Given the description of an element on the screen output the (x, y) to click on. 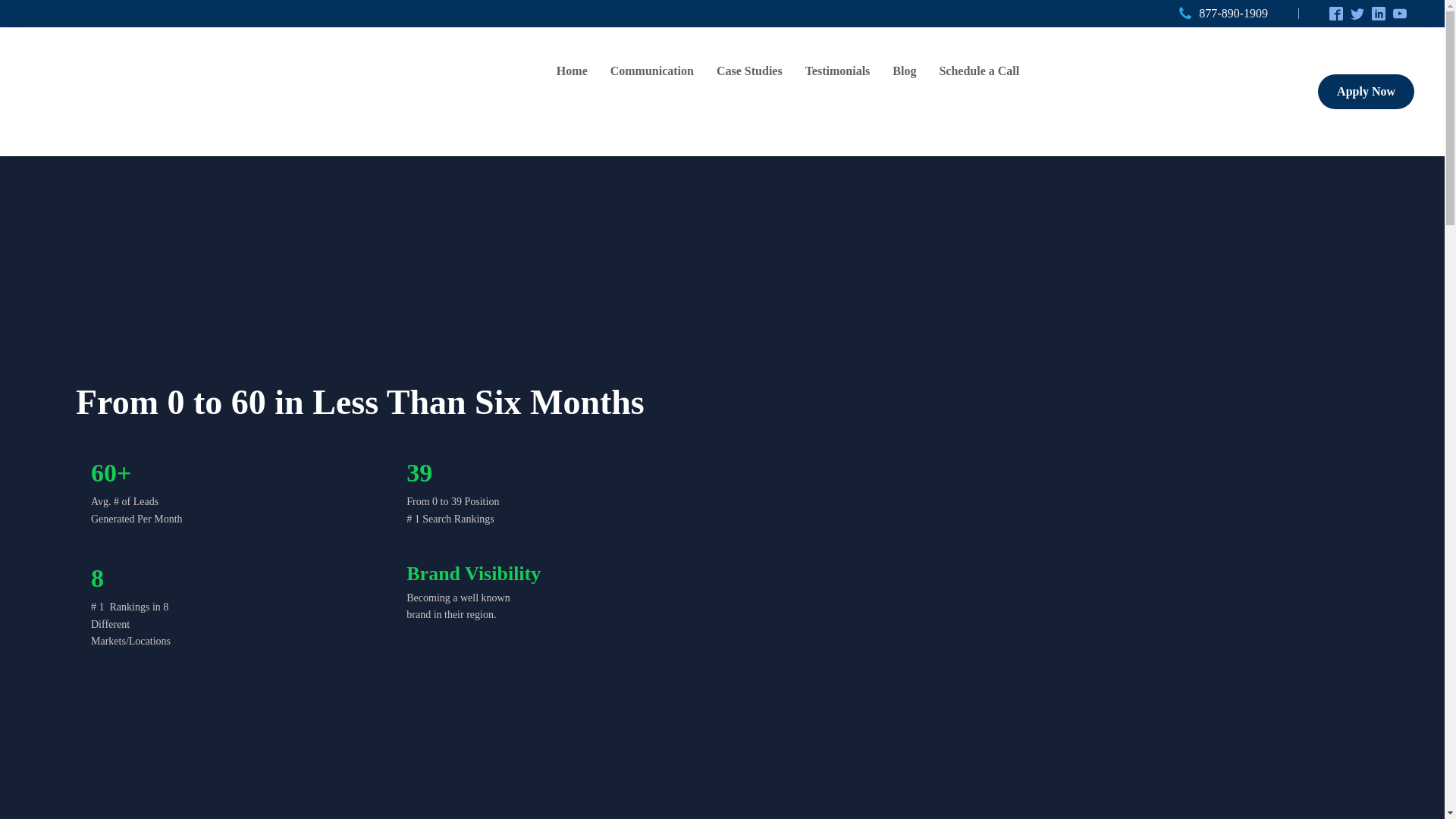
Case Studies (749, 71)
Communication (652, 71)
877-890-1909 (1233, 13)
Blog (903, 71)
Schedule a Call (979, 71)
Testimonials (837, 71)
Home (572, 71)
Apply Now (1365, 91)
